Given the description of an element on the screen output the (x, y) to click on. 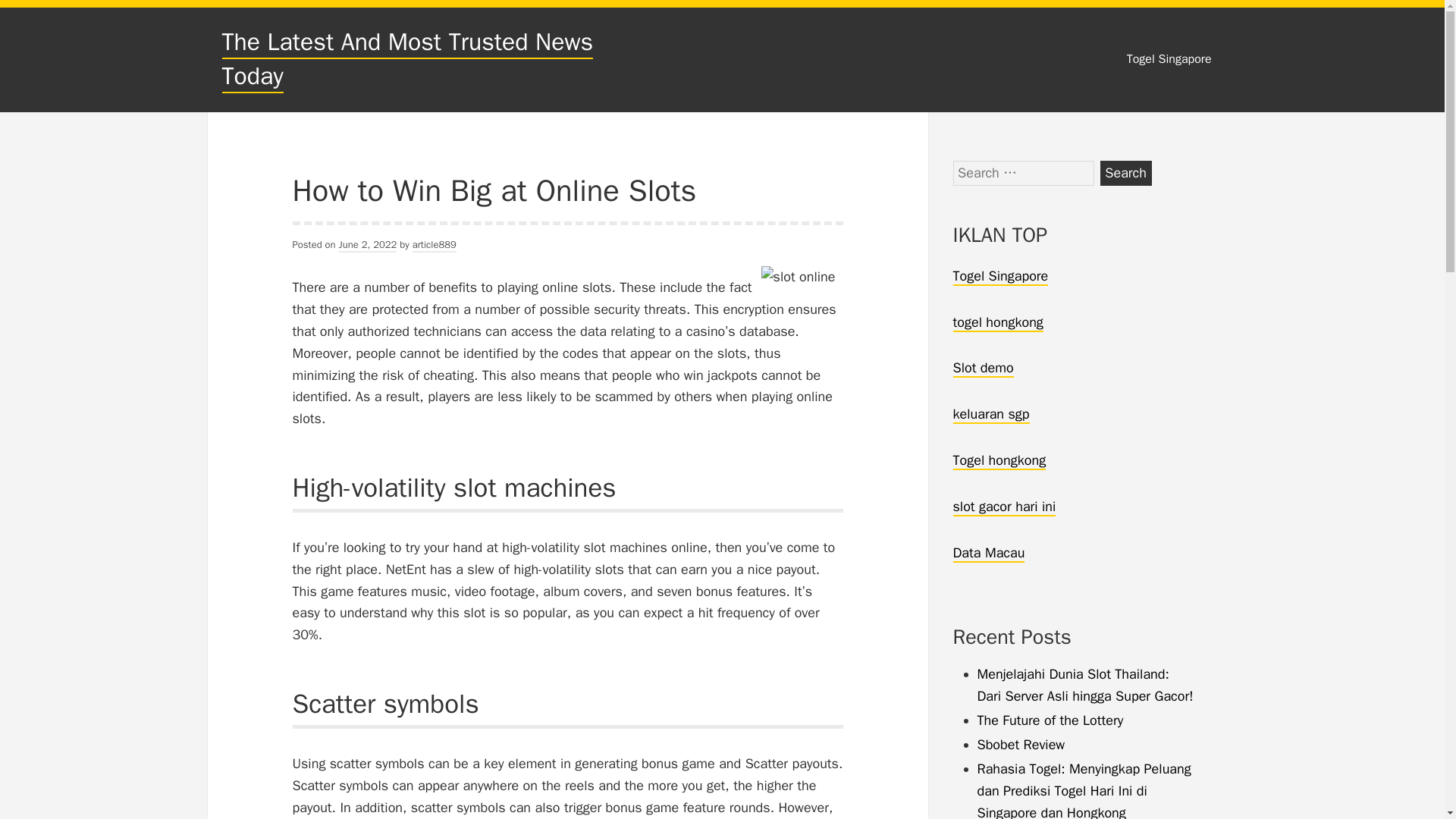
Togel hongkong (998, 461)
Search (1125, 173)
Togel Singapore (1000, 276)
The Future of the Lottery (1049, 719)
keluaran sgp (990, 414)
Slot demo (982, 368)
article889 (434, 245)
slot gacor hari ini (1003, 506)
Search (1125, 173)
The Latest And Most Trusted News Today (406, 59)
Togel Singapore (1169, 59)
Data Macau (988, 553)
